Given the description of an element on the screen output the (x, y) to click on. 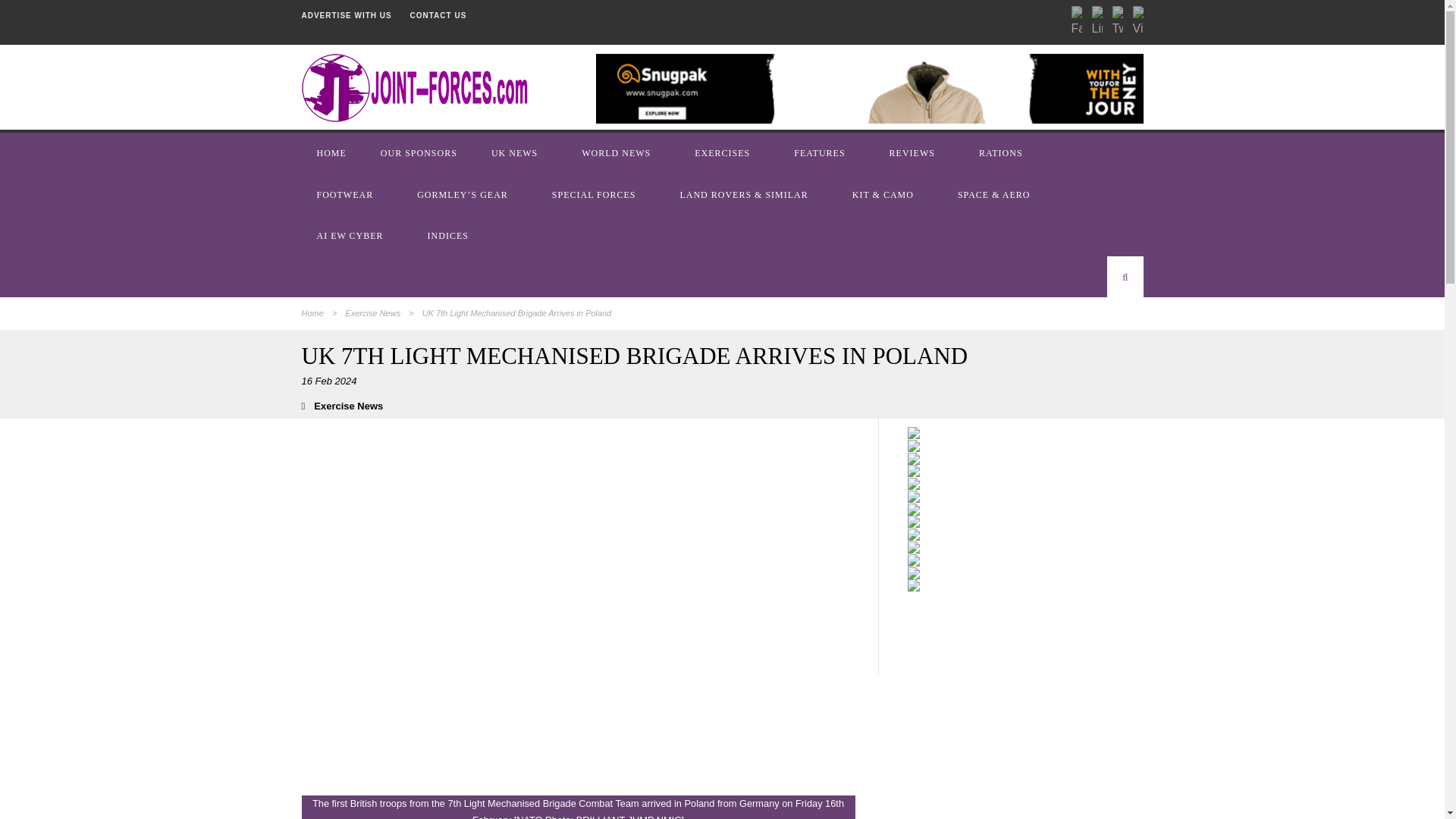
CONTACT US (438, 15)
ADVERTISE WITH US (346, 15)
HOME (333, 152)
